Given the description of an element on the screen output the (x, y) to click on. 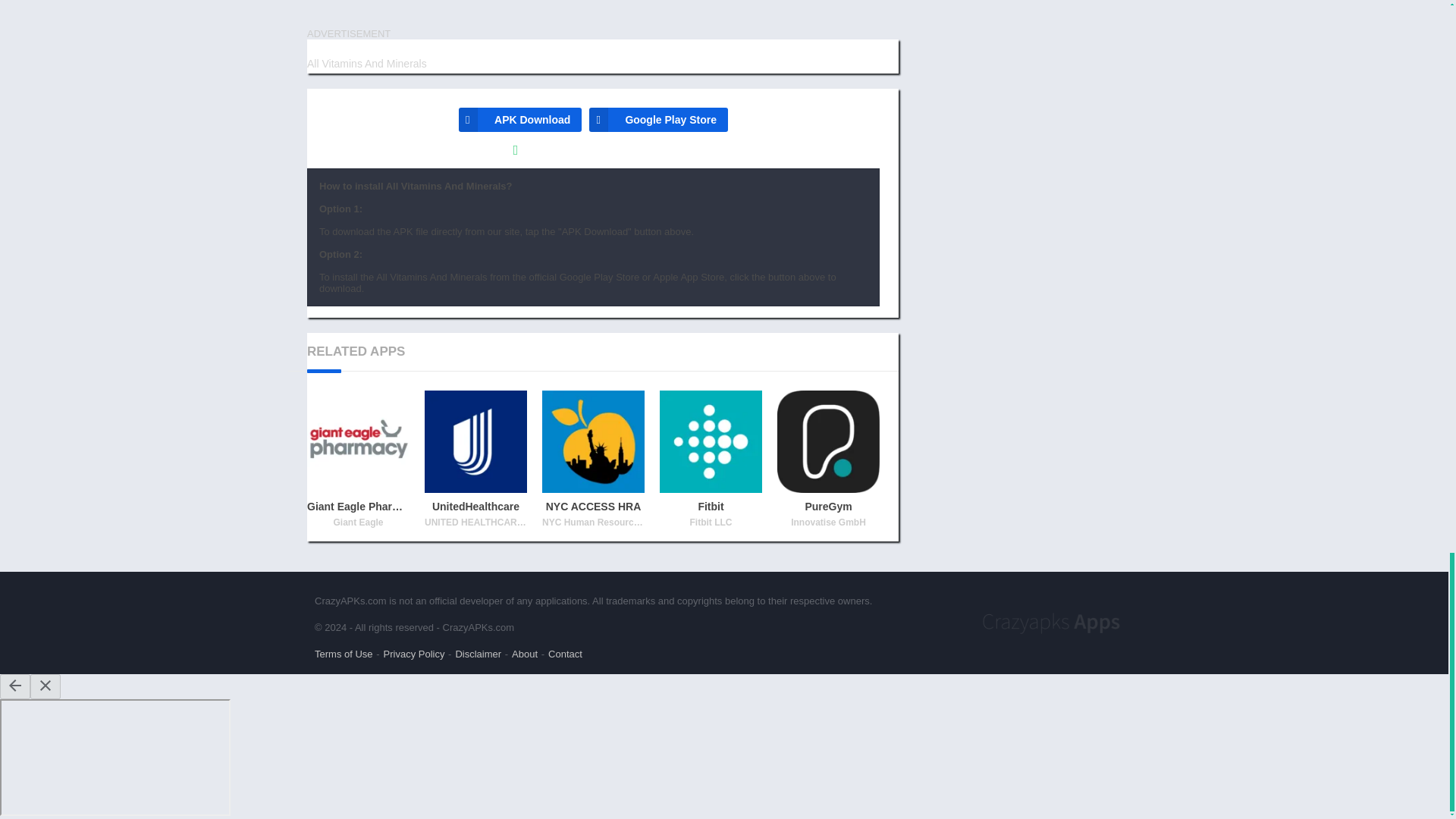
Google Play Store (658, 119)
APK Download (519, 119)
